Given the description of an element on the screen output the (x, y) to click on. 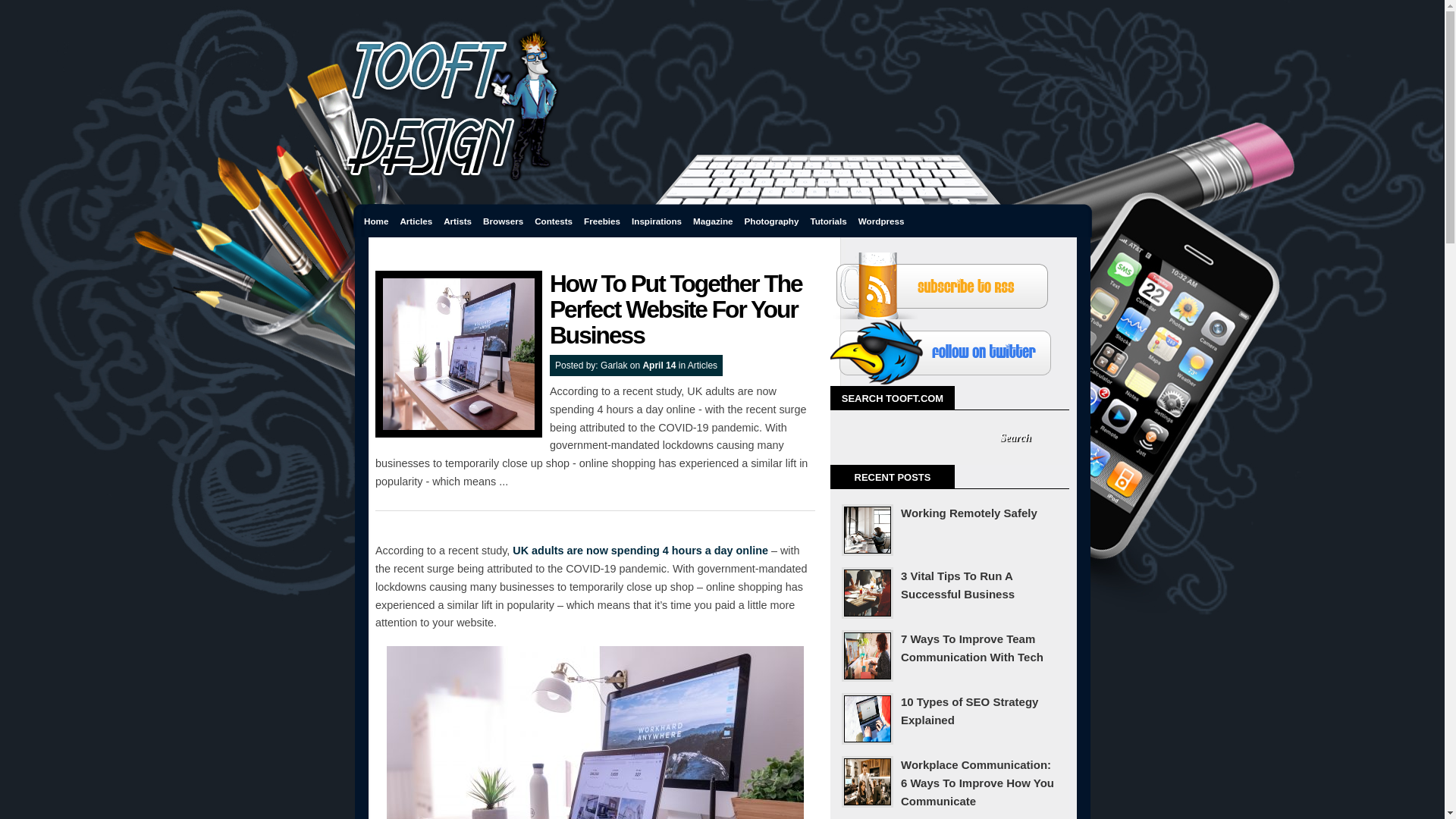
Magazine (712, 221)
7 Ways To Improve Team Communication With Tech (949, 647)
Working Remotely Safely (949, 513)
Articles (702, 365)
Photography (772, 221)
Home (375, 221)
Home (375, 221)
10 Types of SEO Strategy Explained (949, 710)
UK adults are now spending 4 hours a day online (640, 550)
3 Vital Tips To Run A Successful Business (949, 585)
